Given the description of an element on the screen output the (x, y) to click on. 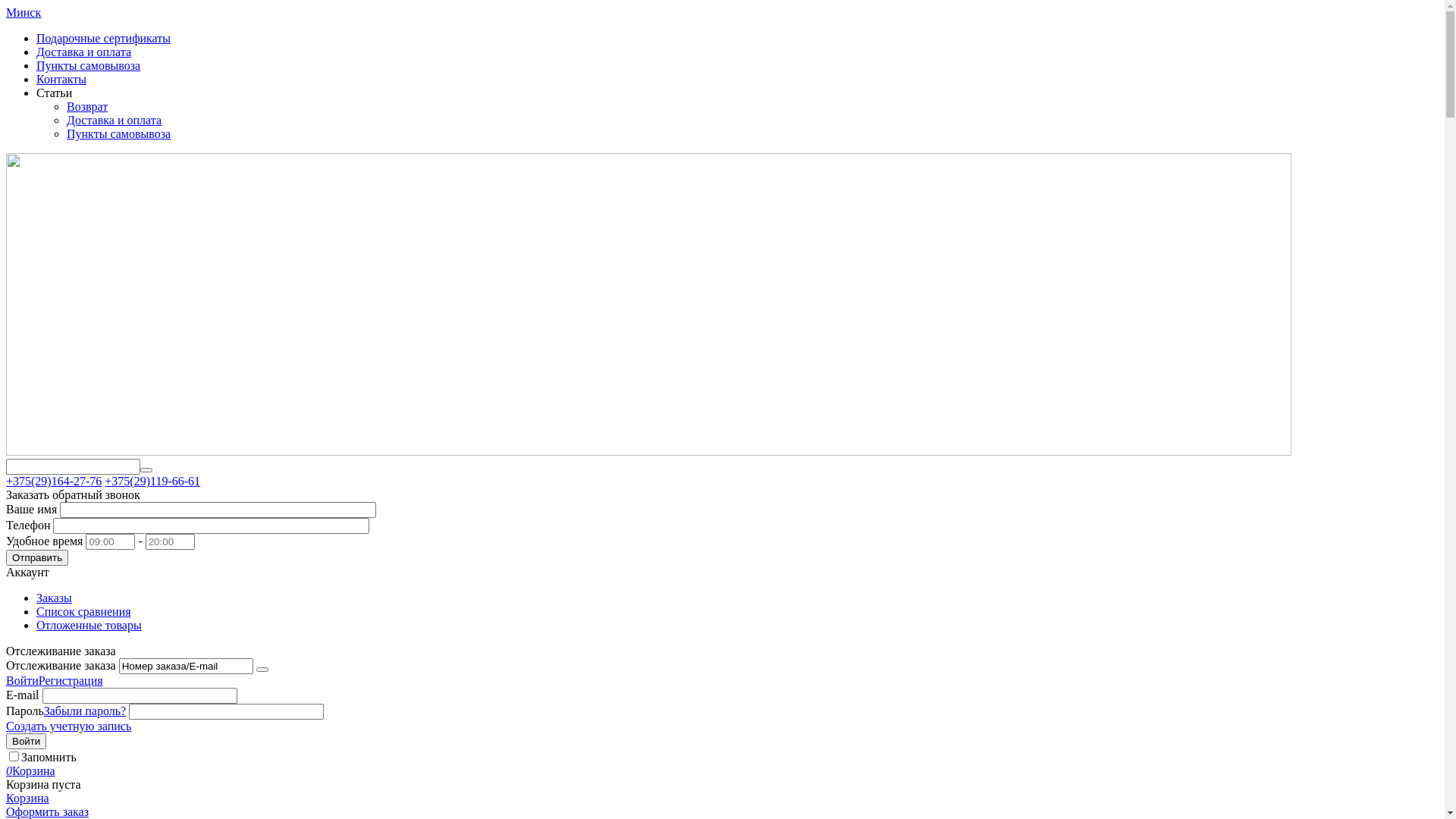
+375(29)119-66-61 Element type: text (152, 480)
+375(29)164-27-76 Element type: text (53, 480)
